Given the description of an element on the screen output the (x, y) to click on. 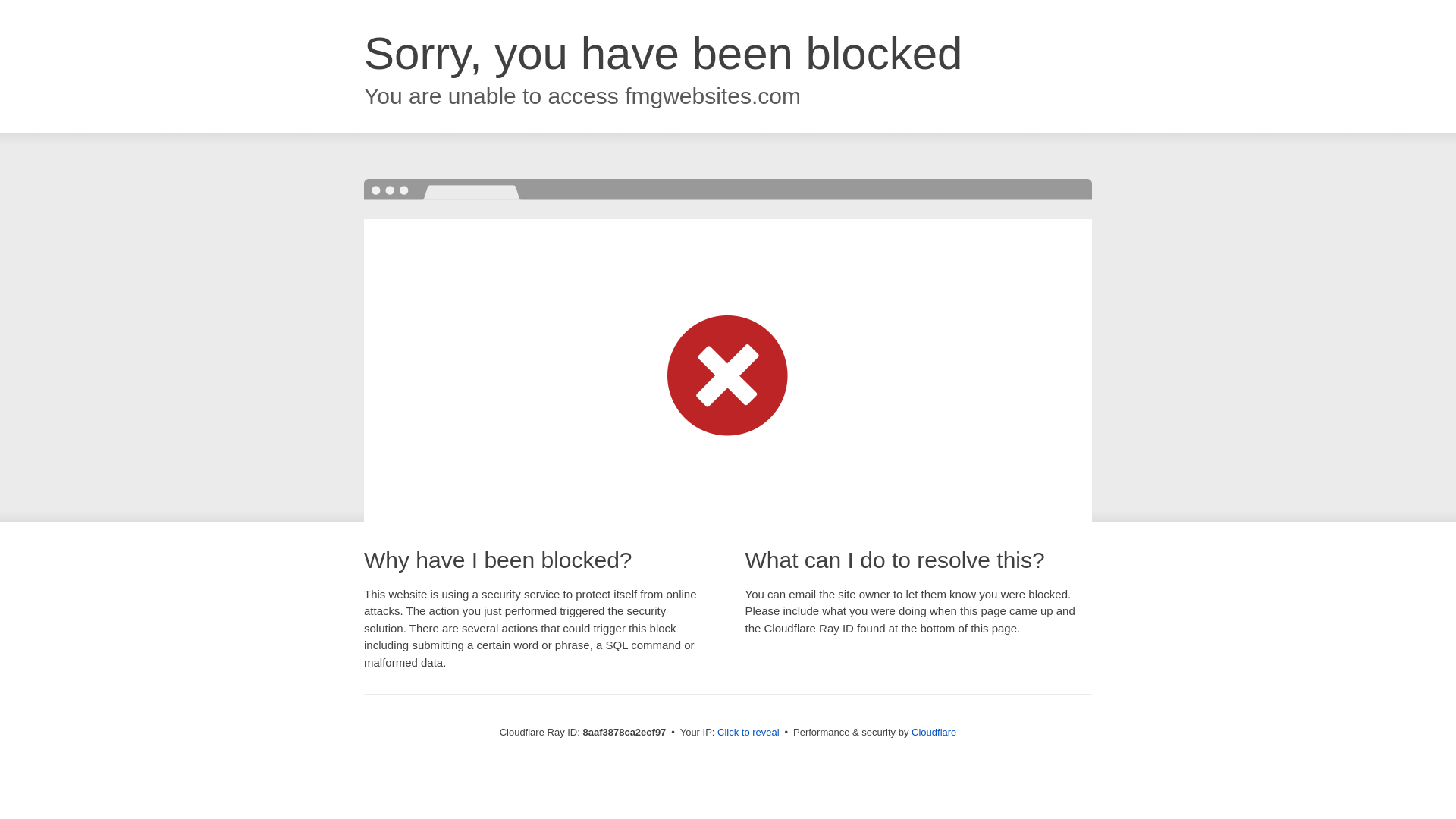
Click to reveal (747, 732)
Cloudflare (933, 731)
